Given the description of an element on the screen output the (x, y) to click on. 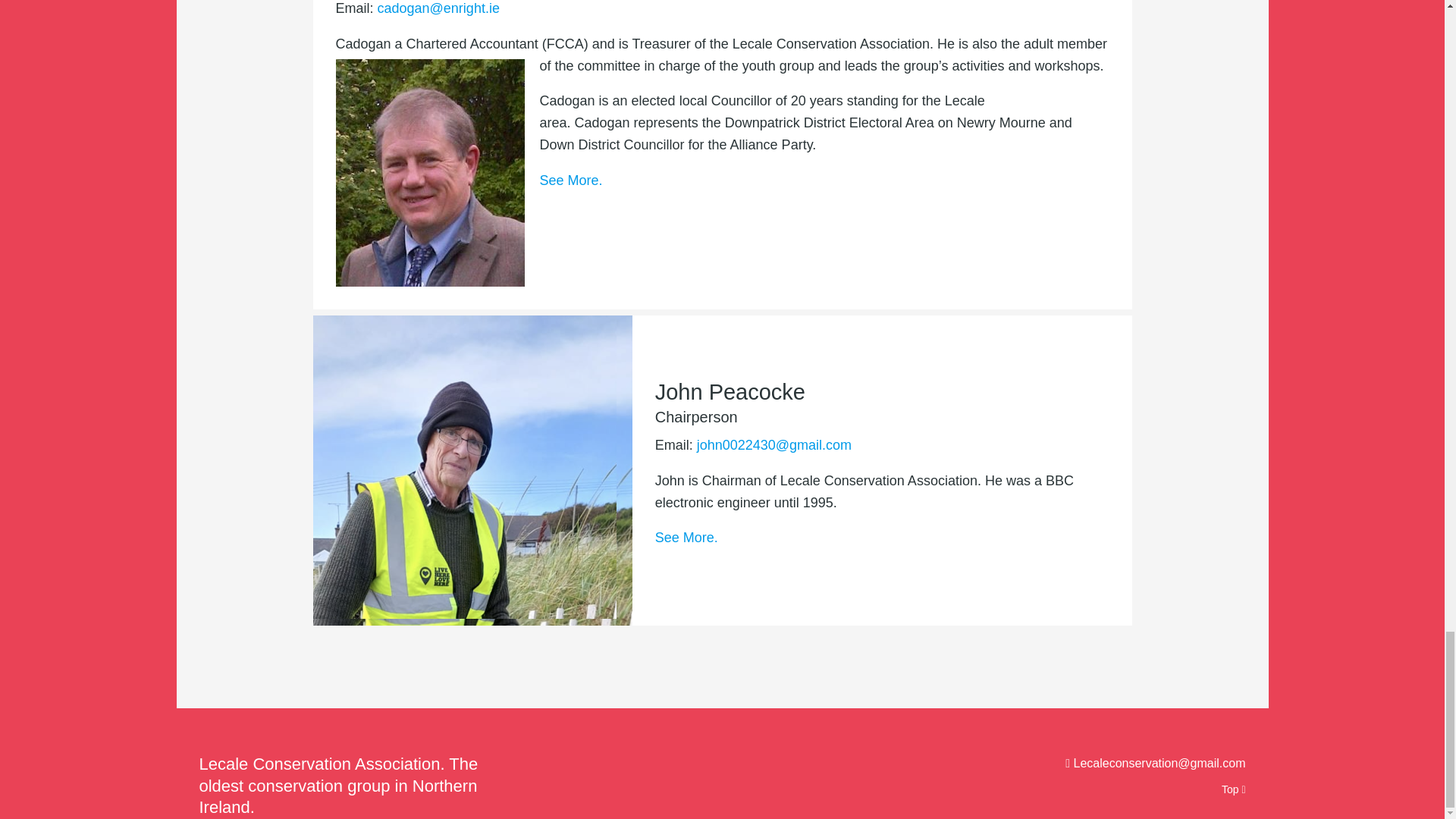
See More. (571, 180)
See More. (686, 537)
Top (1233, 785)
